Given the description of an element on the screen output the (x, y) to click on. 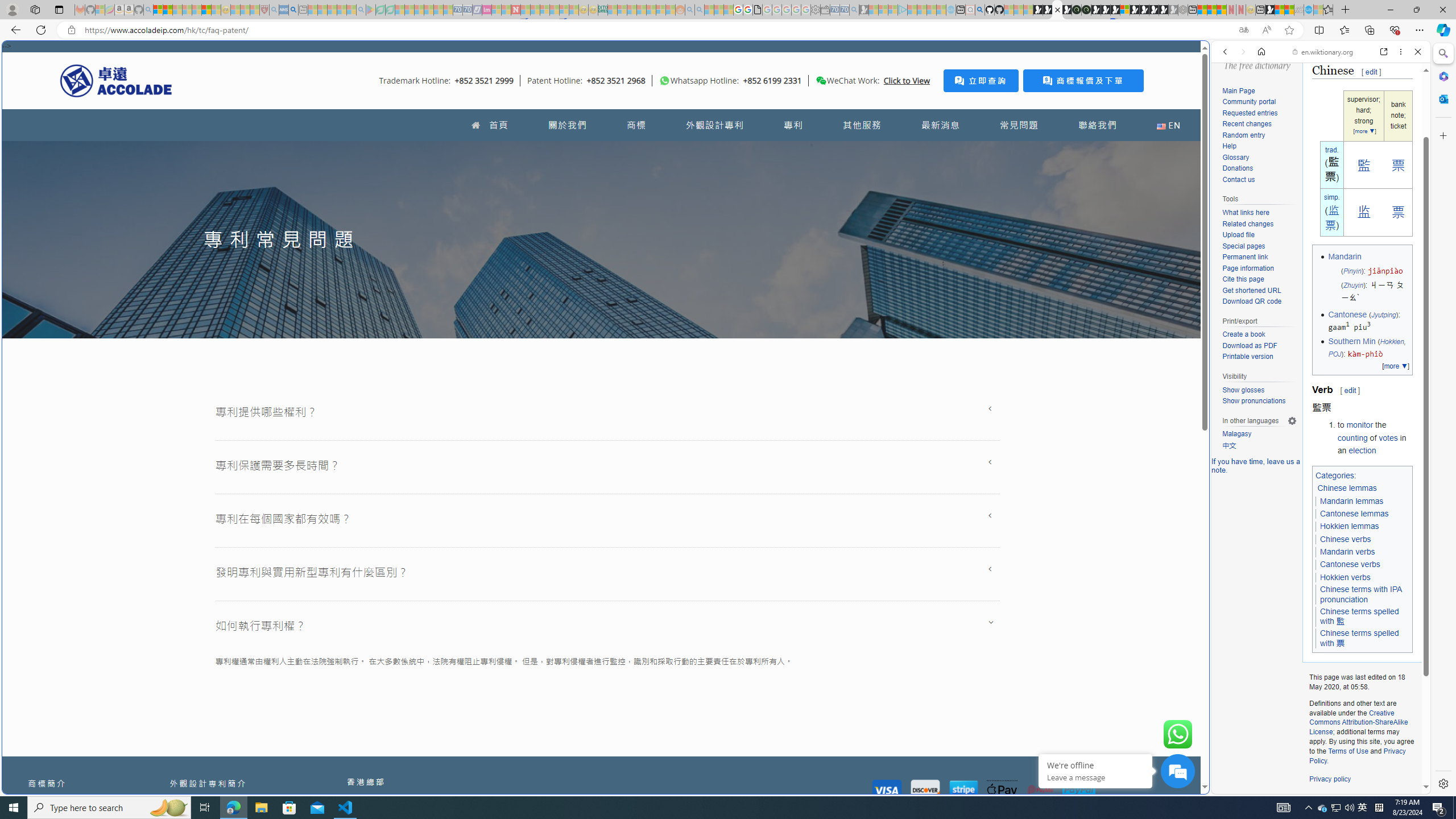
Cantonese verbs (1350, 564)
Main Page (1238, 90)
votes (1387, 437)
Requested entries (1249, 112)
New tab - Sleeping (303, 9)
MSN (1118, 536)
Global web icon (1232, 786)
Hokkien lemmas (1349, 526)
This site scope (1259, 102)
Search Filter, WEB (1230, 129)
